Given the description of an element on the screen output the (x, y) to click on. 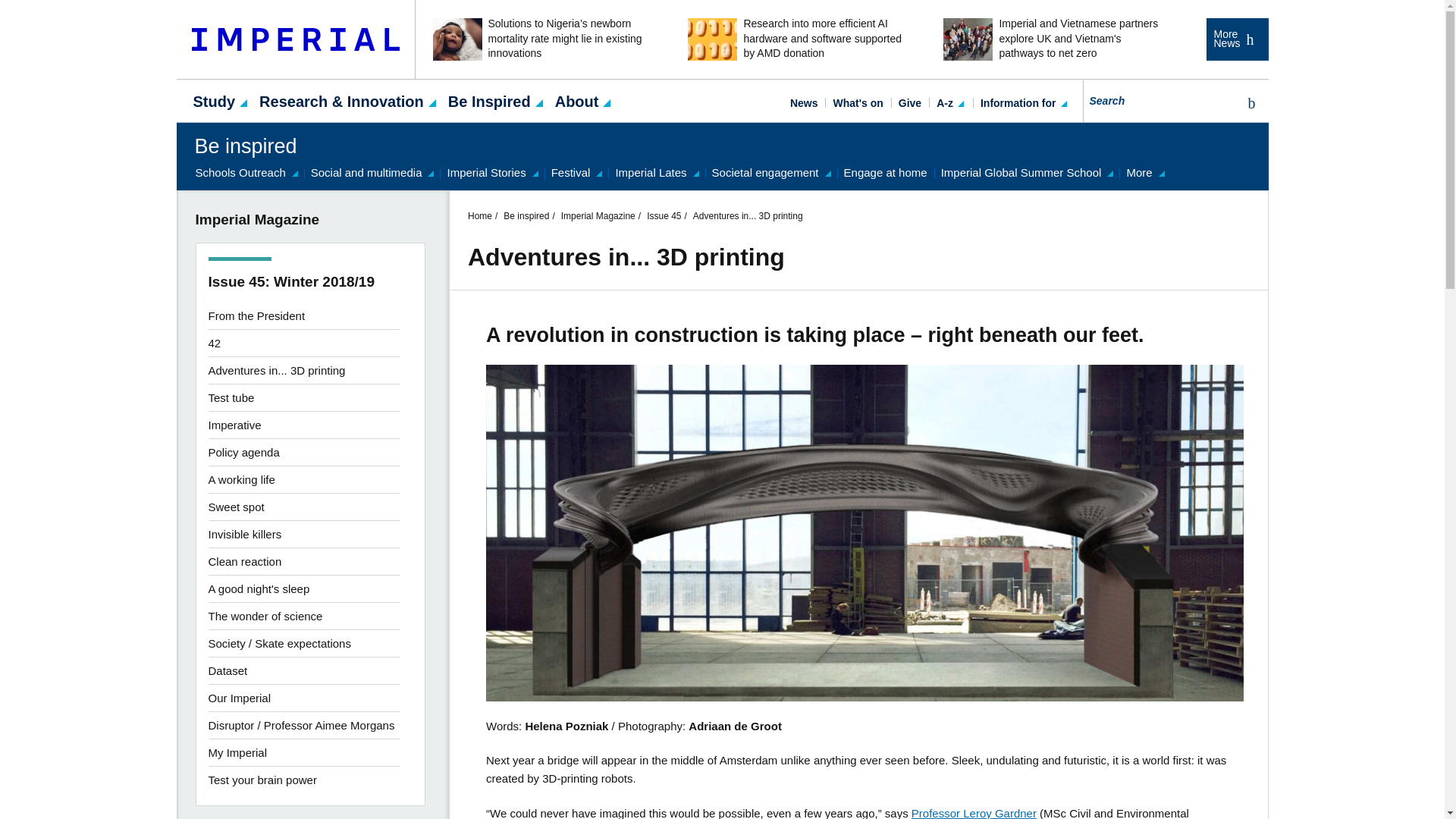
Imperial College London Home (295, 39)
Imperial College London (295, 39)
Study (213, 100)
More News (1236, 39)
Professor Leroy Gardner (973, 812)
